Given the description of an element on the screen output the (x, y) to click on. 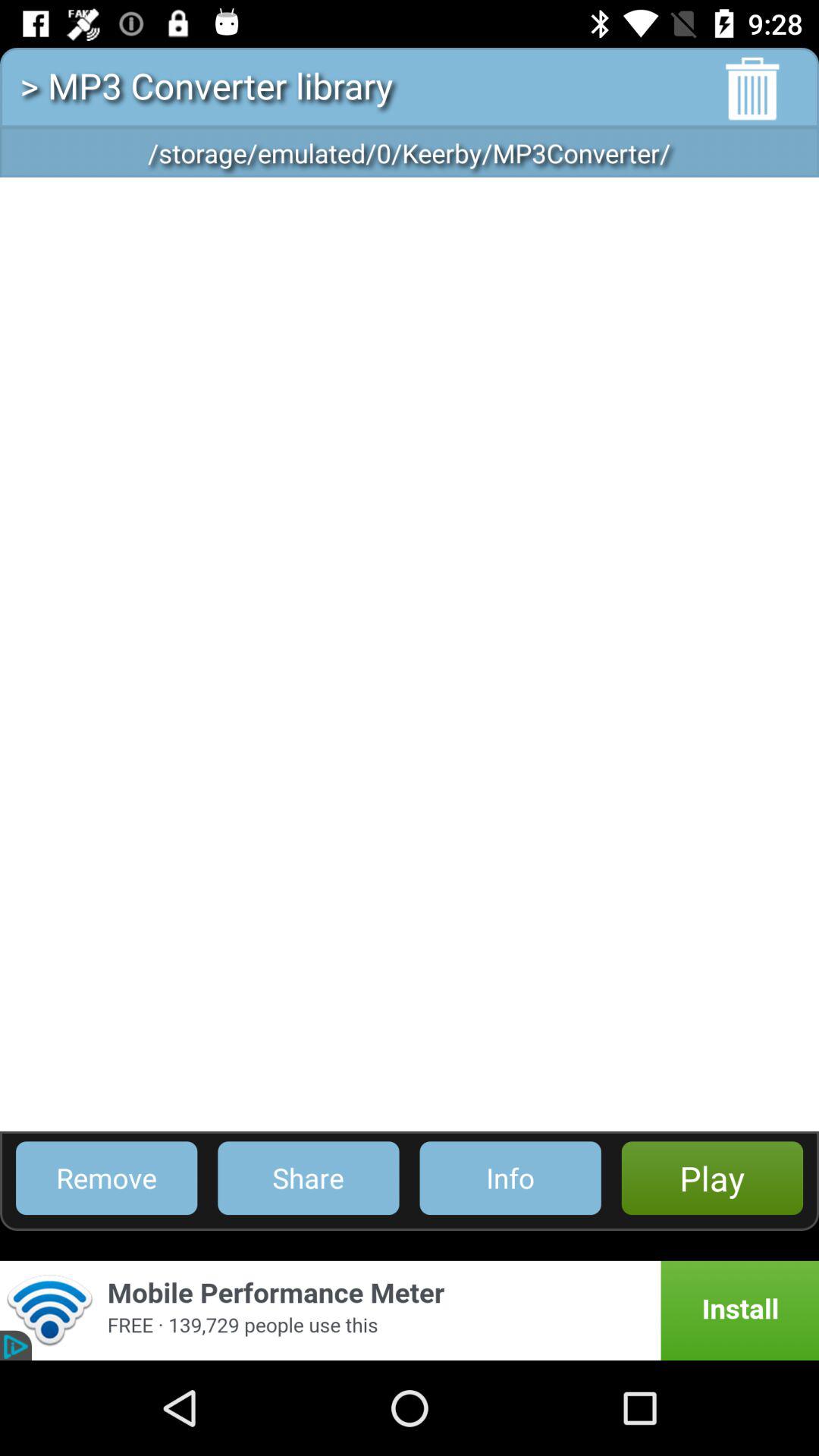
launch app at the bottom left corner (106, 1177)
